Given the description of an element on the screen output the (x, y) to click on. 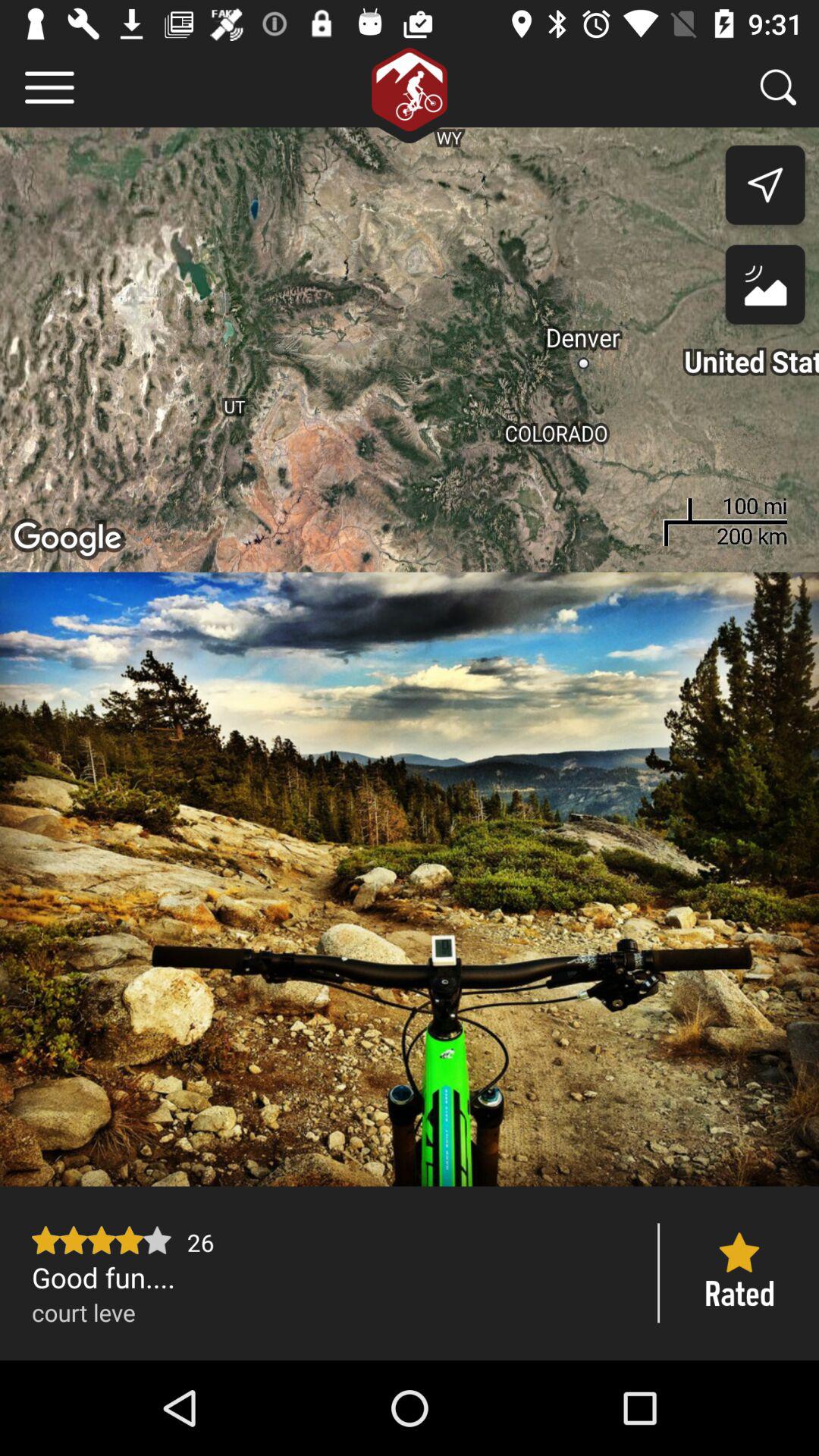
press the option button (49, 87)
